Given the description of an element on the screen output the (x, y) to click on. 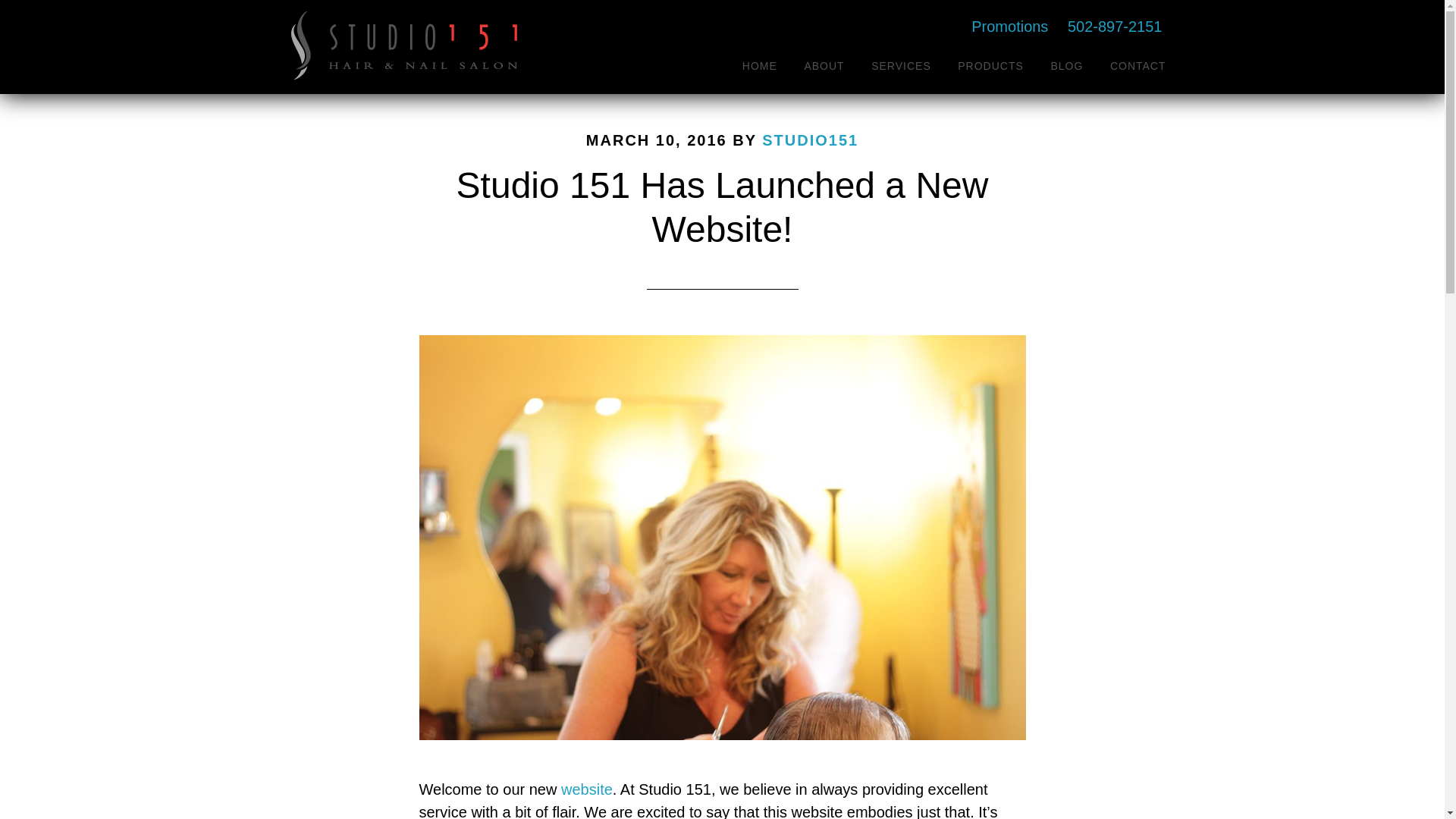
502-897-2151 (1122, 26)
website (586, 789)
BLOG (1066, 65)
PRODUCTS (990, 65)
SERVICES (901, 65)
ABOUT (824, 65)
STUDIO151 (810, 139)
Promotions (1009, 26)
CONTACT (1138, 65)
HOME (759, 65)
